Given the description of an element on the screen output the (x, y) to click on. 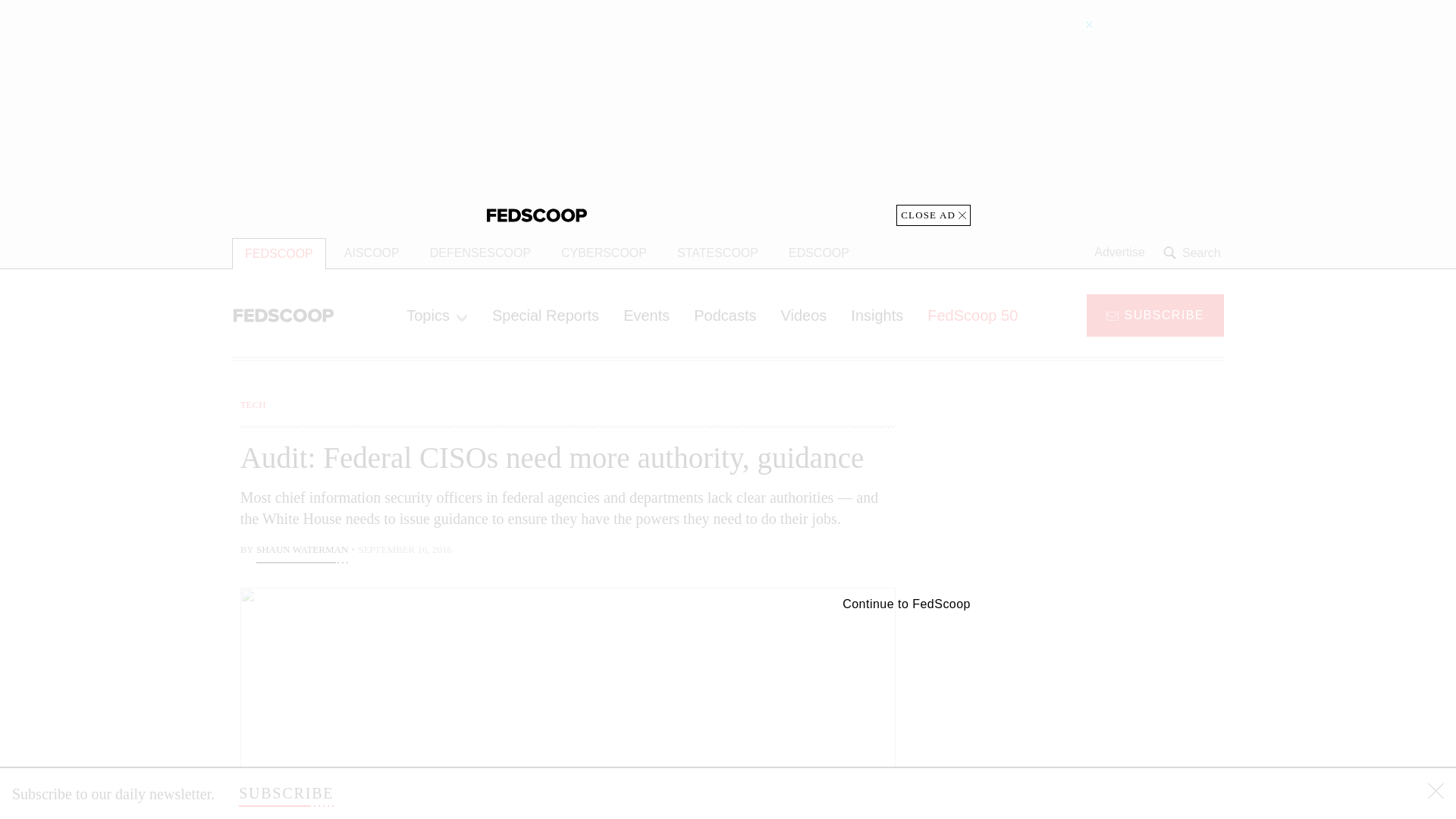
SUBSCRIBE (1155, 314)
3rd party ad content (1101, 492)
STATESCOOP (717, 253)
Videos (804, 315)
Topics (437, 315)
Advertise (1119, 252)
SUBSCRIBE (285, 793)
Insights (876, 315)
